Given the description of an element on the screen output the (x, y) to click on. 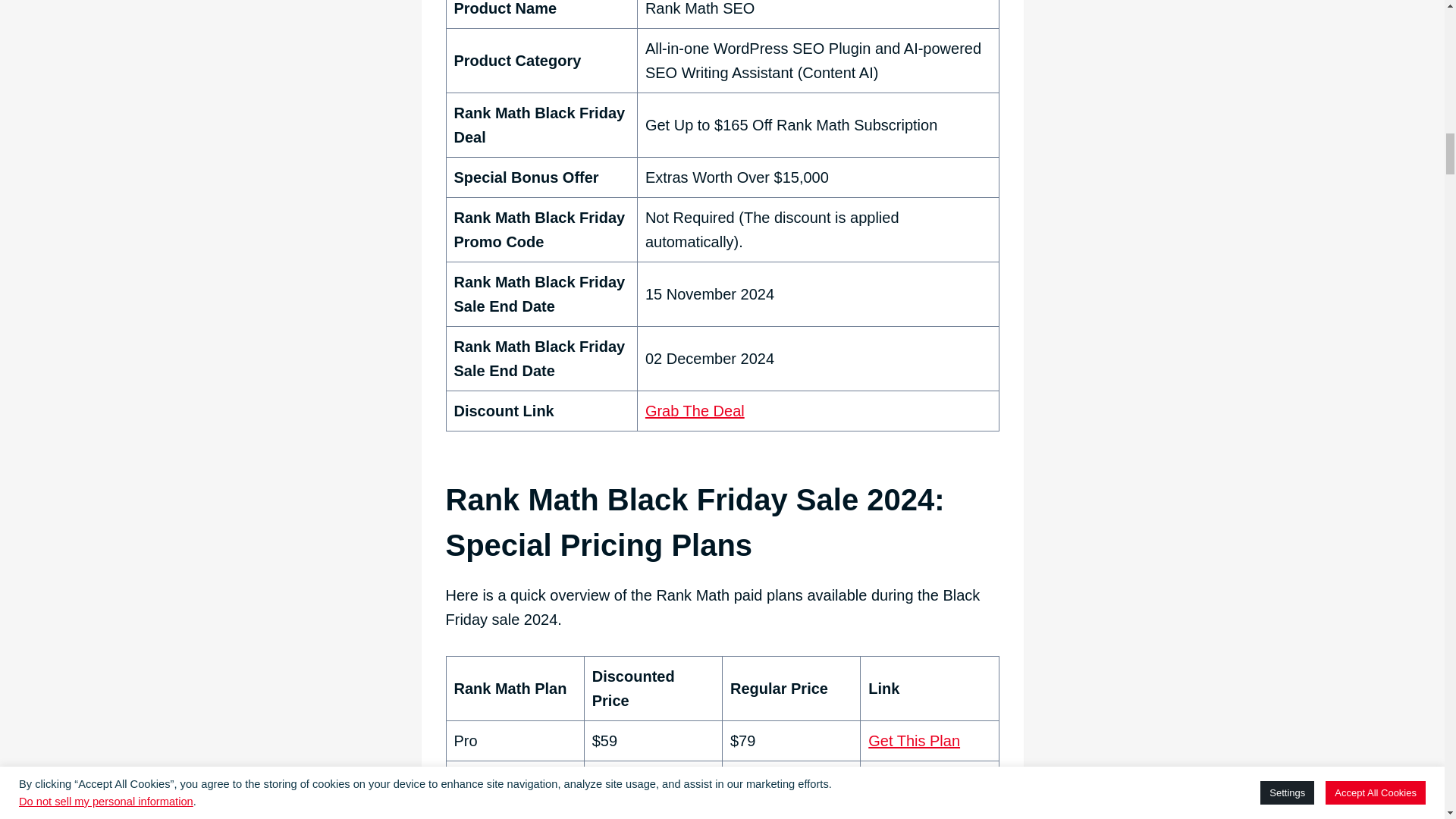
Get This Plan (913, 816)
Get This Plan (913, 781)
Grab The Deal (694, 410)
Get This Plan (913, 740)
